Given the description of an element on the screen output the (x, y) to click on. 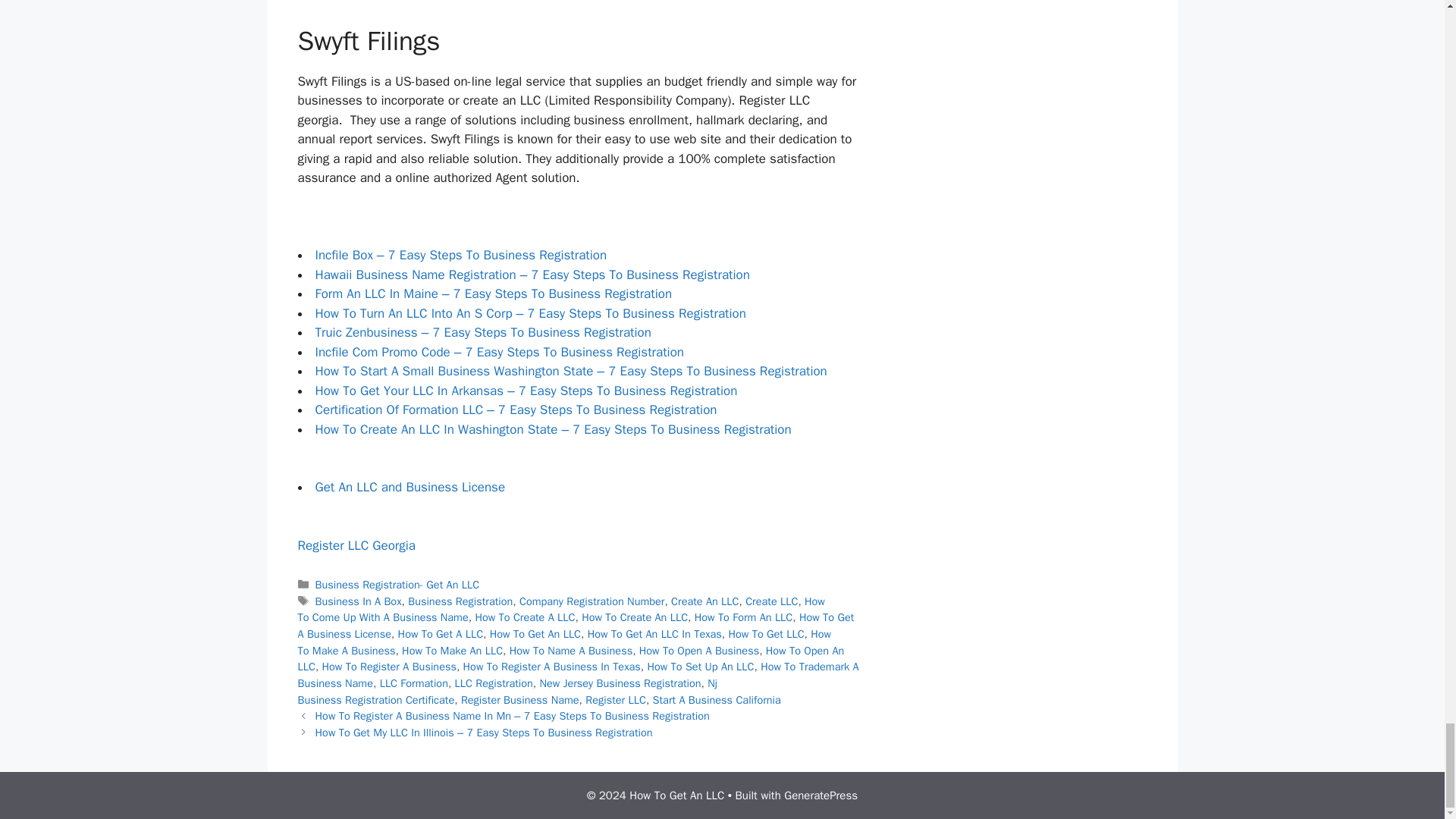
Company Registration Number (591, 601)
Business Registration- Get An LLC (397, 584)
How To Come Up With A Business Name (560, 609)
Register LLC Georgia (355, 545)
Business Registration (459, 601)
Get An LLC and Business License (410, 487)
Business In A Box (358, 601)
Create LLC (771, 601)
Create An LLC (704, 601)
